Given the description of an element on the screen output the (x, y) to click on. 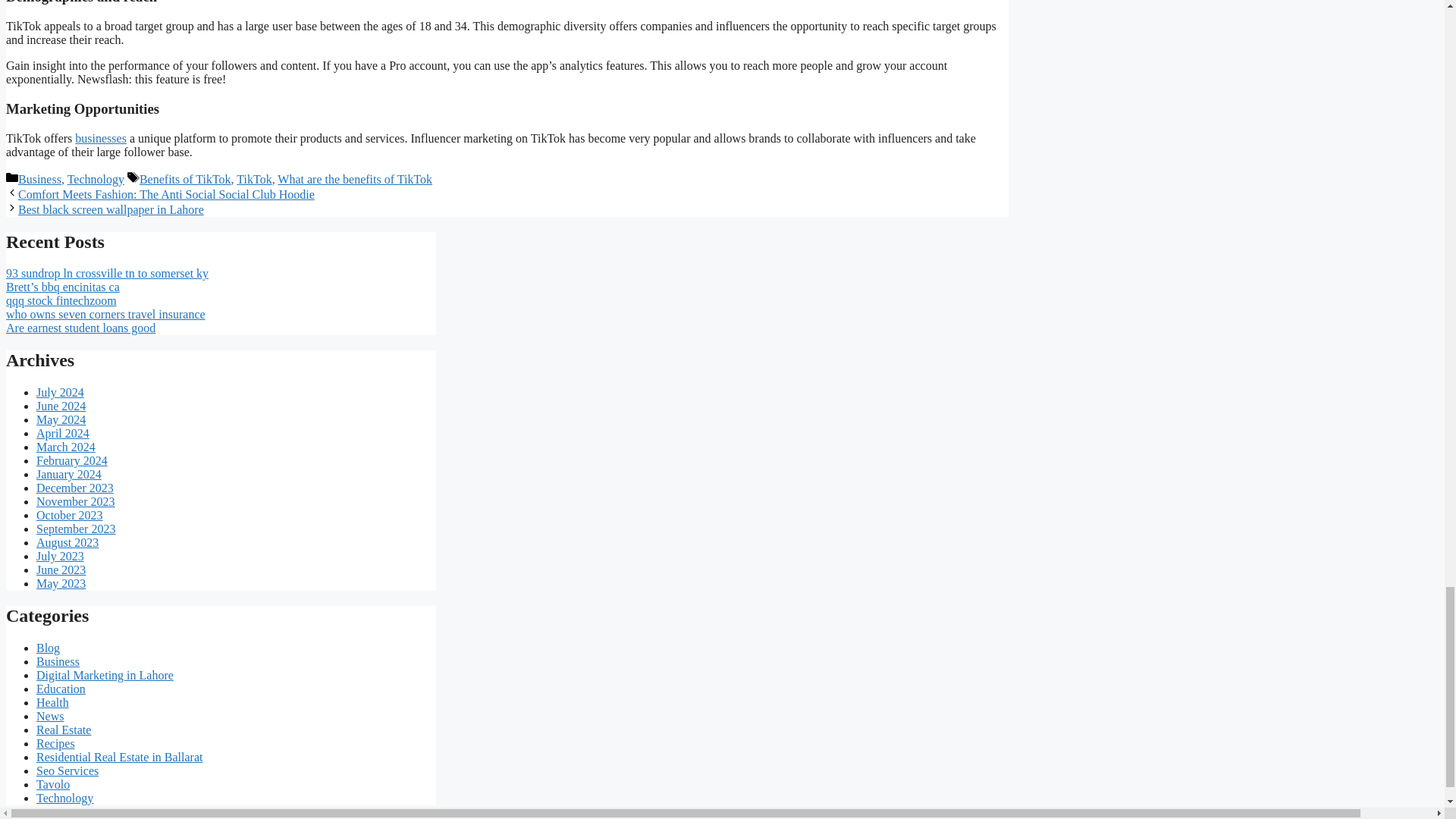
businesses (100, 137)
Are earnest student loans good (80, 327)
93 sundrop ln crossville tn to somerset ky (106, 273)
Best black screen wallpaper in Lahore (110, 209)
Technology (94, 178)
Benefits of TikTok (185, 178)
What are the benefits of TikTok (355, 178)
July 2024 (60, 391)
TikTok (252, 178)
who owns seven corners travel insurance (105, 314)
June 2024 (60, 405)
Business (39, 178)
Comfort Meets Fashion: The Anti Social Social Club Hoodie (165, 194)
qqq stock fintechzoom (60, 300)
